Given the description of an element on the screen output the (x, y) to click on. 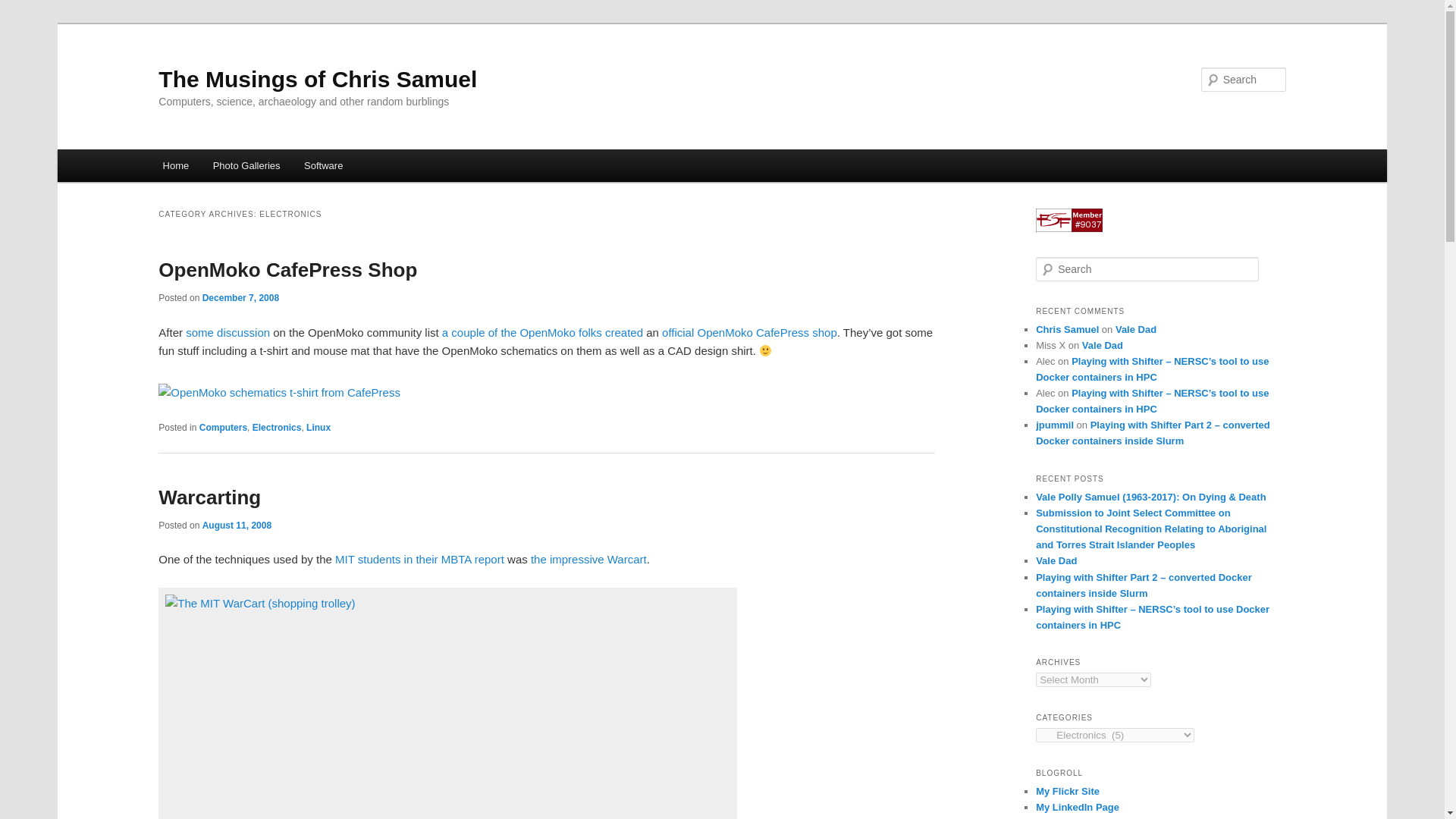
Chris Samuel on Flickr (1067, 790)
official OpenMoko CafePress shop (749, 332)
Warcarting (209, 497)
December 7, 2008 (240, 297)
OpenMoko CafePress Shop (287, 269)
Home (175, 165)
Chris Samuel on LinkedIn (1077, 807)
Search (24, 8)
The Musings of Chris Samuel (317, 78)
Software (323, 165)
